Given the description of an element on the screen output the (x, y) to click on. 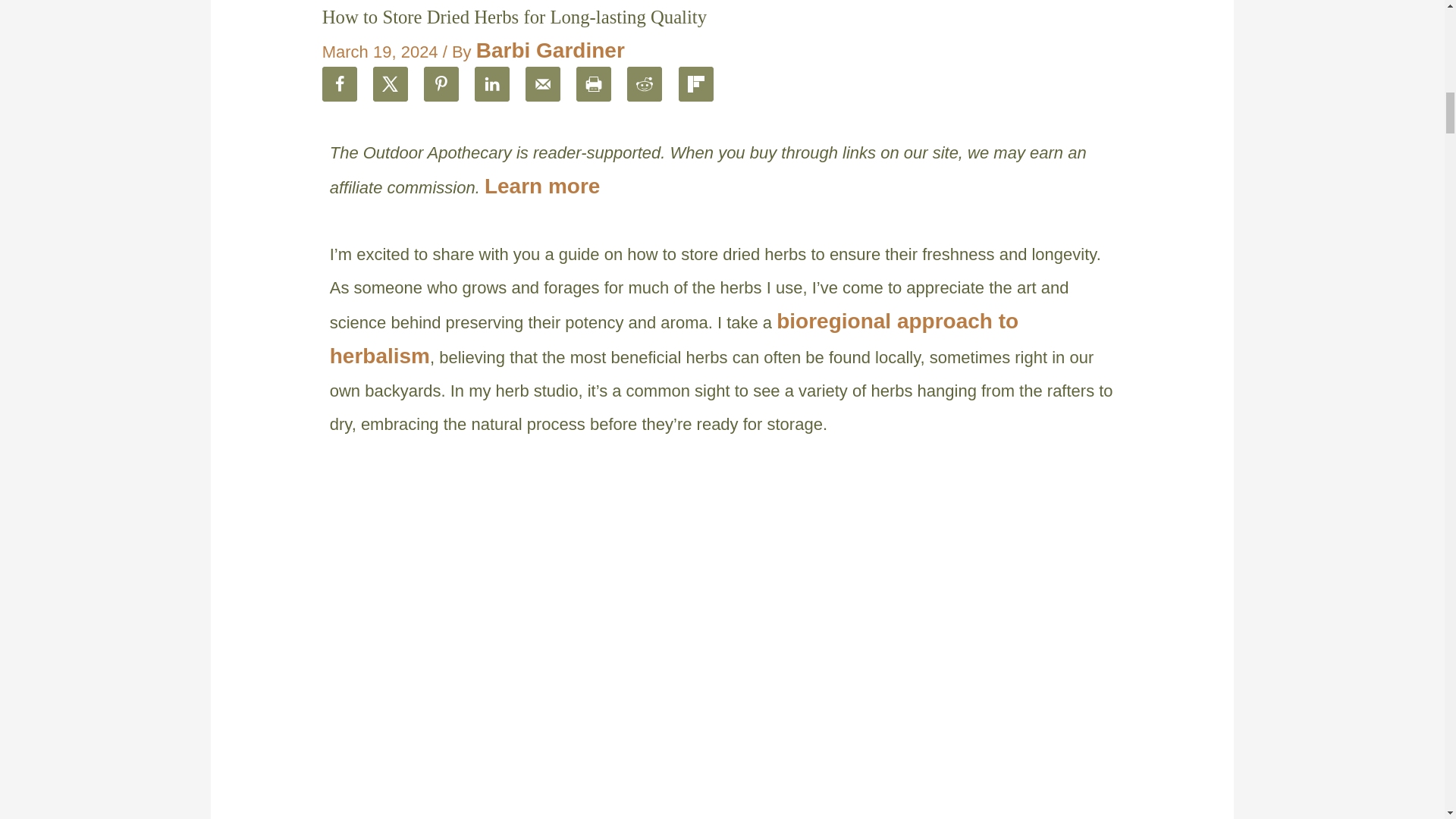
Share on Reddit (644, 83)
Share on X (389, 83)
Share on Facebook (338, 83)
Save to Pinterest (440, 83)
Share on LinkedIn (491, 83)
Share on Flipboard (695, 83)
Send over email (542, 83)
Print this webpage (593, 83)
View all posts by Barbi Gardiner (550, 50)
